Given the description of an element on the screen output the (x, y) to click on. 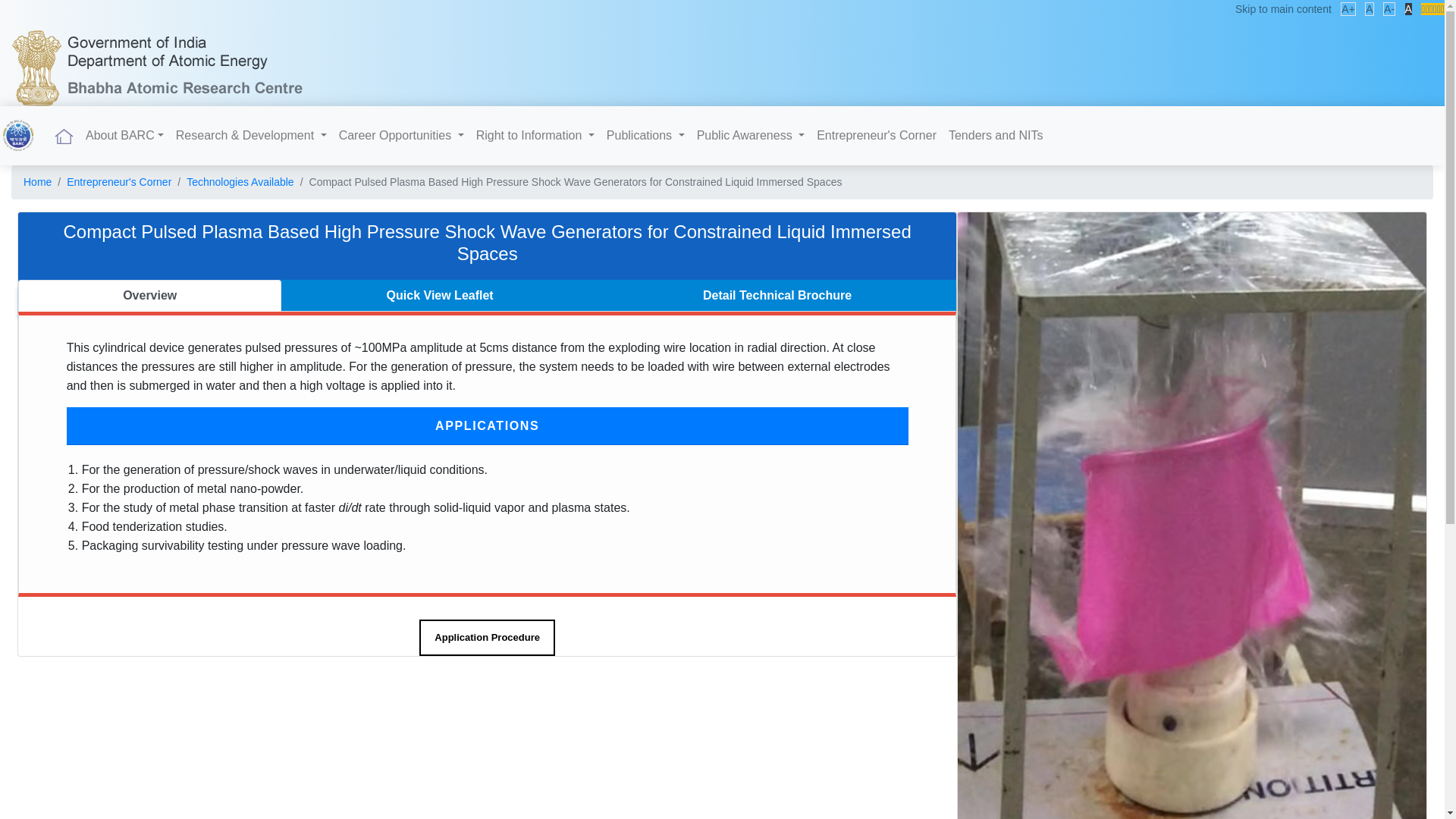
A- (1388, 8)
About BARC (125, 135)
Skip to main content (1283, 9)
Career Opportunities (401, 135)
